Given the description of an element on the screen output the (x, y) to click on. 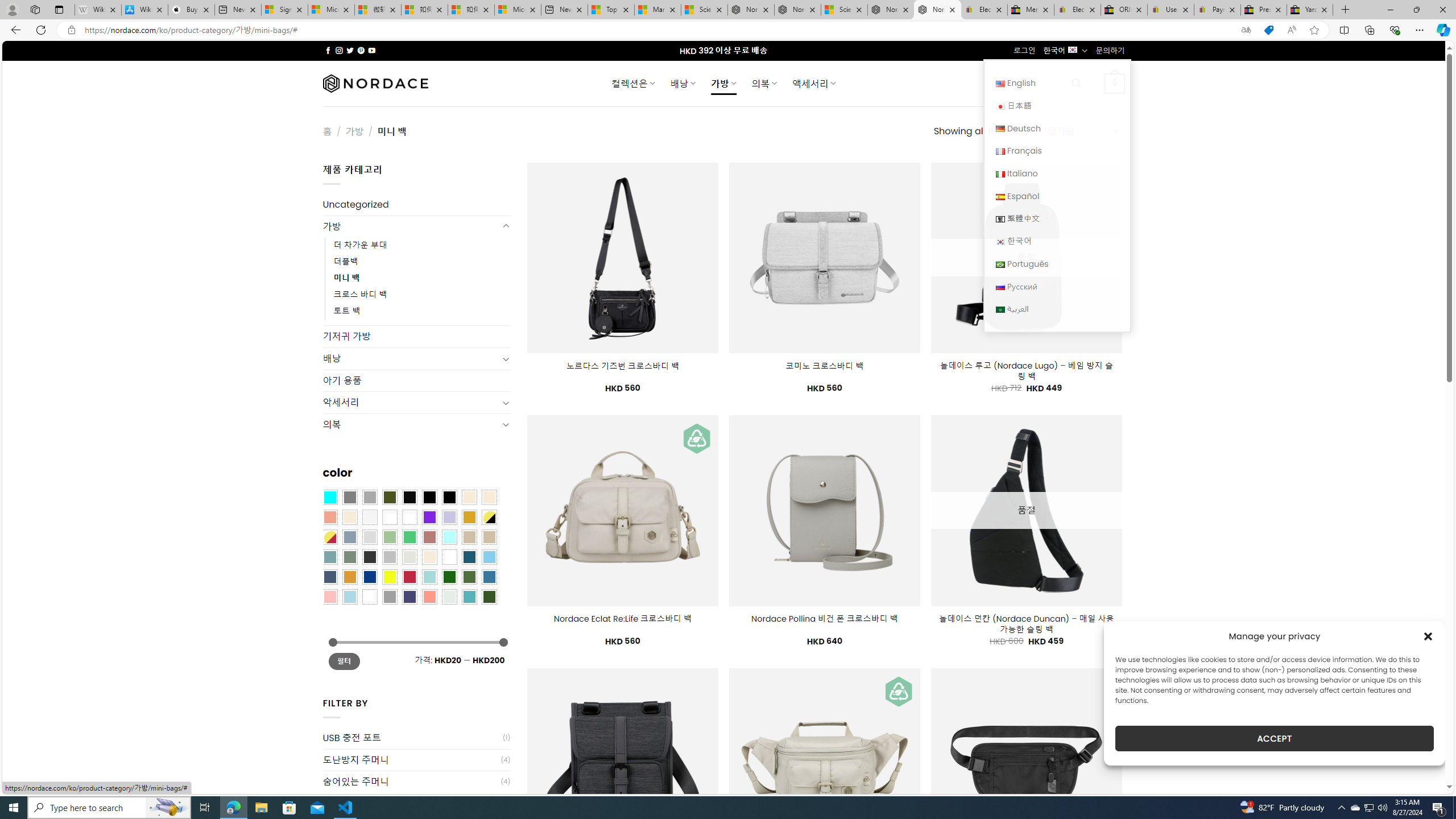
Dull Nickle (449, 596)
 0  (1115, 83)
